Given the description of an element on the screen output the (x, y) to click on. 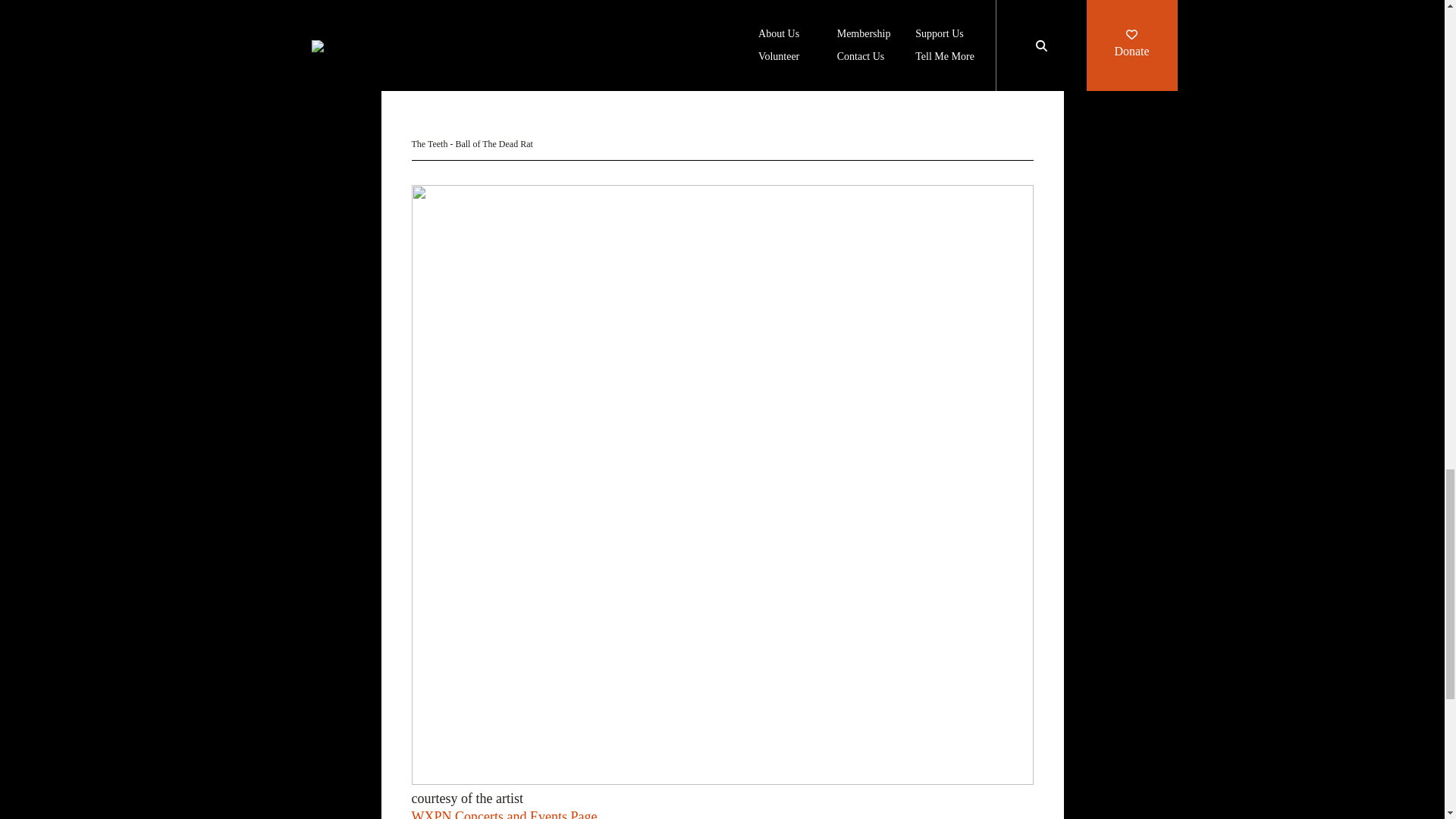
WXPN Concerts and Events Page (503, 814)
